Given the description of an element on the screen output the (x, y) to click on. 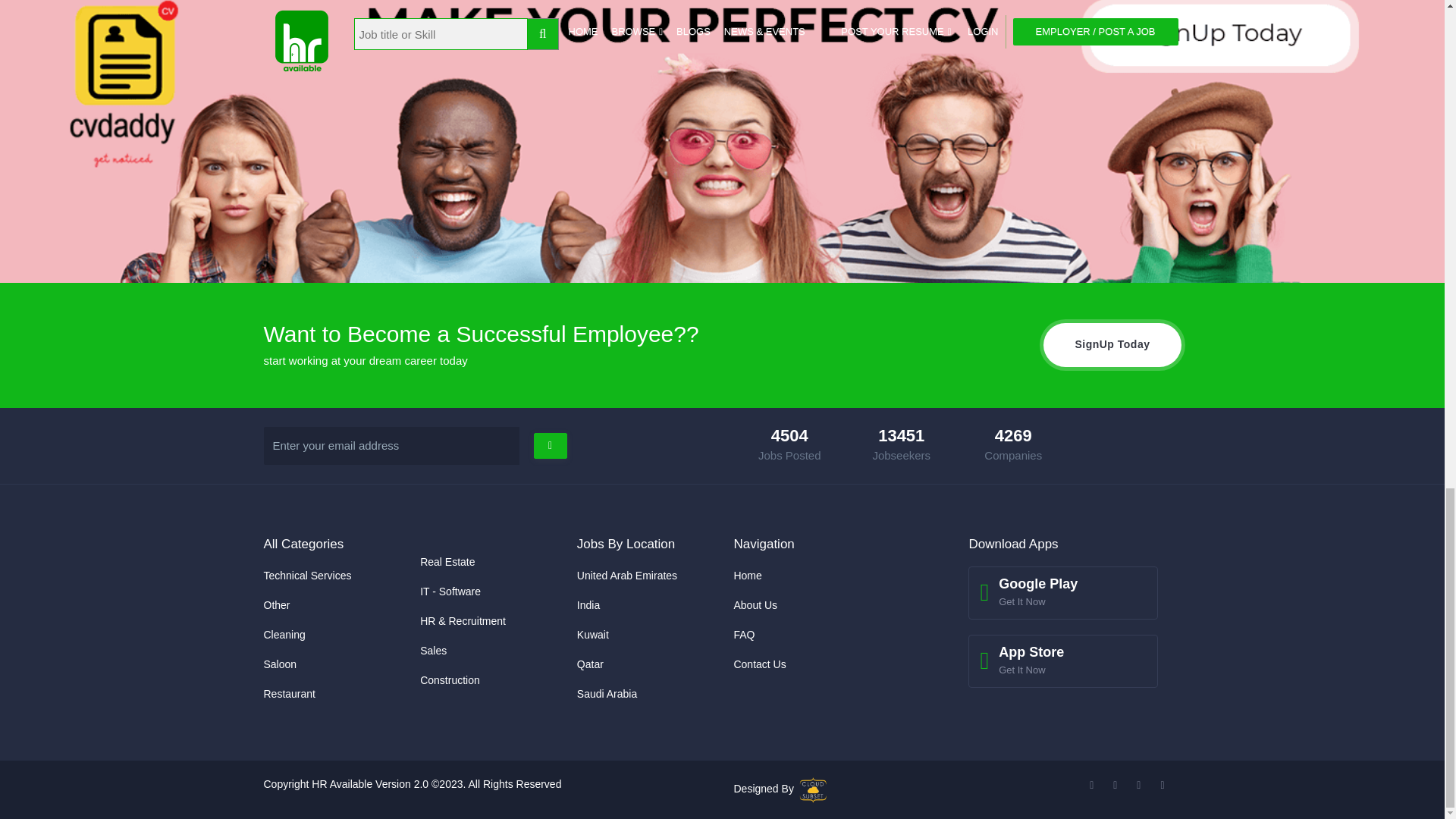
United Arab Emirates (626, 575)
Real Estate (447, 562)
Technical Services (307, 575)
SignUp Today (1111, 344)
Sales (433, 650)
IT - Software (450, 591)
Other (276, 604)
Saloon (280, 664)
Restaurant (289, 693)
Cleaning (284, 634)
